Given the description of an element on the screen output the (x, y) to click on. 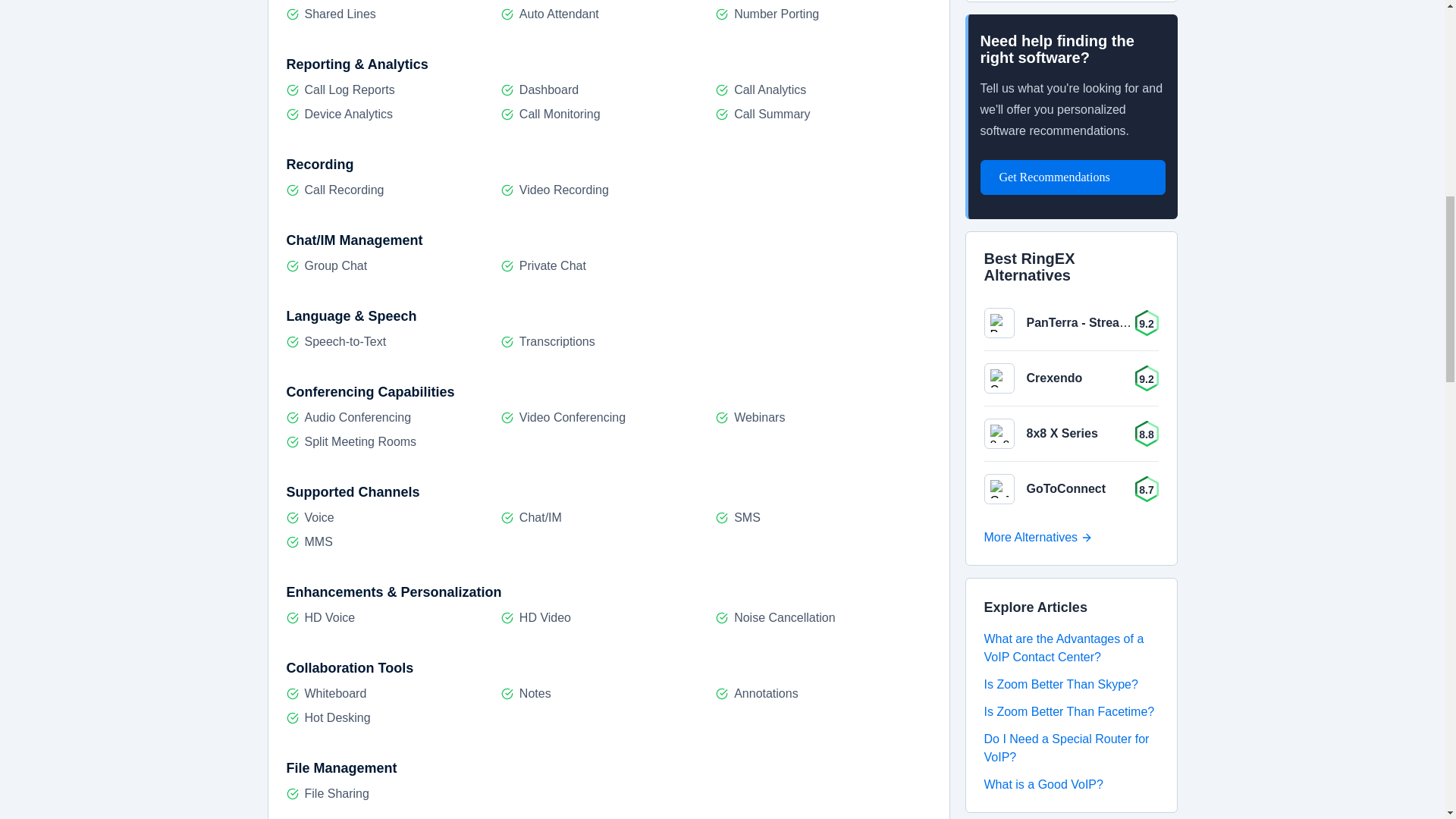
PanTerra - Streams (1081, 322)
Get Recommendations (1071, 176)
8x8 X Series (1061, 432)
Crexendo (1054, 377)
